Given the description of an element on the screen output the (x, y) to click on. 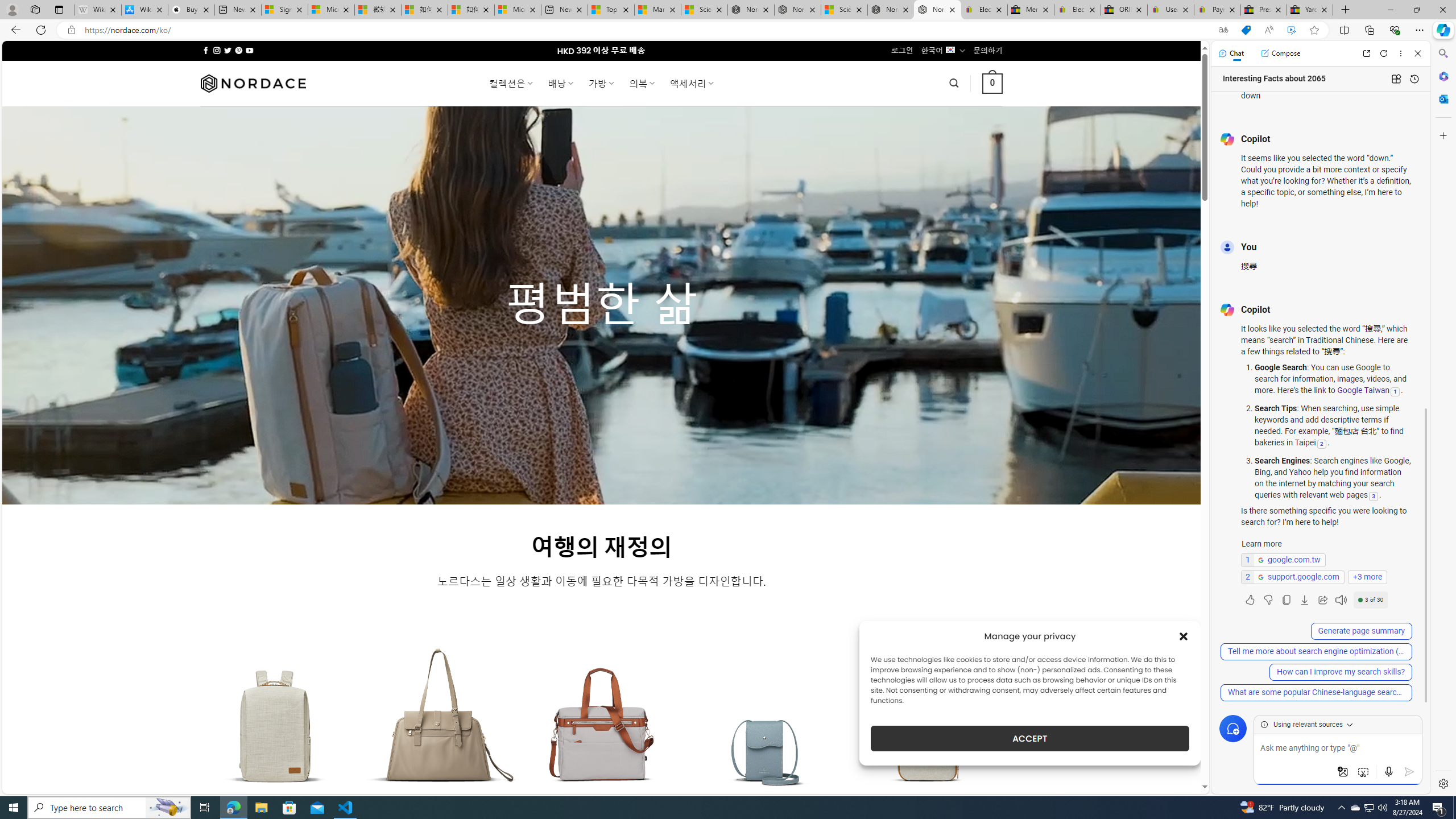
Settings and more (Alt+F) (1419, 29)
Open link in new tab (1366, 53)
Follow on Instagram (216, 50)
Browser essentials (1394, 29)
Microsoft account | Account Checkup (517, 9)
Nordace - Home (937, 9)
Top Stories - MSN (610, 9)
Yard, Garden & Outdoor Living (1309, 9)
Wikipedia - Sleeping (97, 9)
Sign in to your Microsoft account (284, 9)
Customize (1442, 135)
Address and search bar (646, 29)
